Given the description of an element on the screen output the (x, y) to click on. 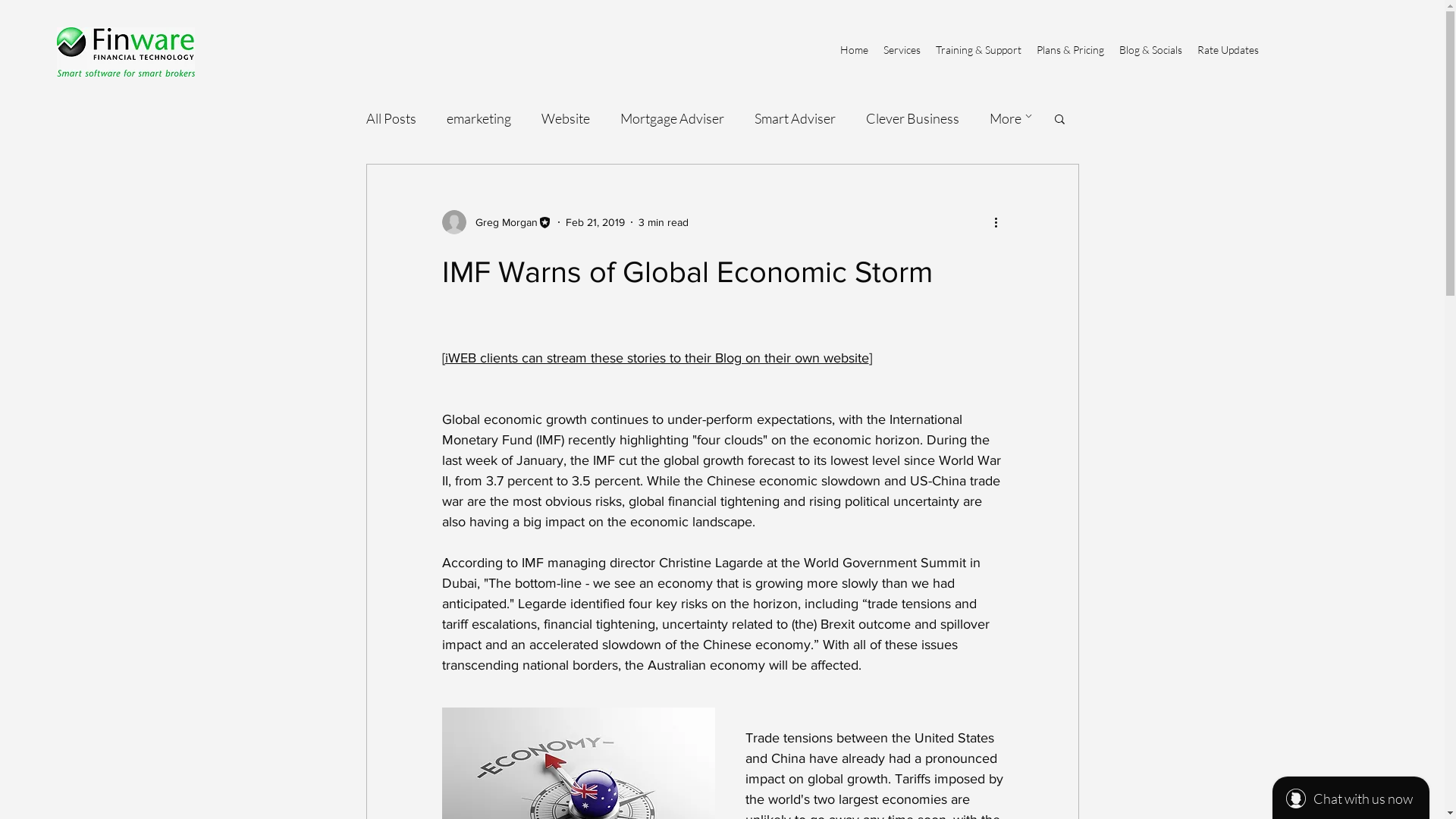
emarketing Element type: text (477, 117)
Training & Support Element type: text (978, 49)
Twitter Follow Element type: hover (1159, 68)
Services Element type: text (901, 49)
Clever Business Element type: text (912, 117)
Rate Updates Element type: text (1227, 49)
Blog & Socials Element type: text (1150, 49)
Website Element type: text (565, 117)
Smart Adviser Element type: text (793, 117)
All Posts Element type: text (390, 117)
Greg Morgan Element type: text (496, 222)
Mortgage Adviser Element type: text (672, 117)
Plans & Pricing Element type: text (1070, 49)
Home Element type: text (853, 49)
